Given the description of an element on the screen output the (x, y) to click on. 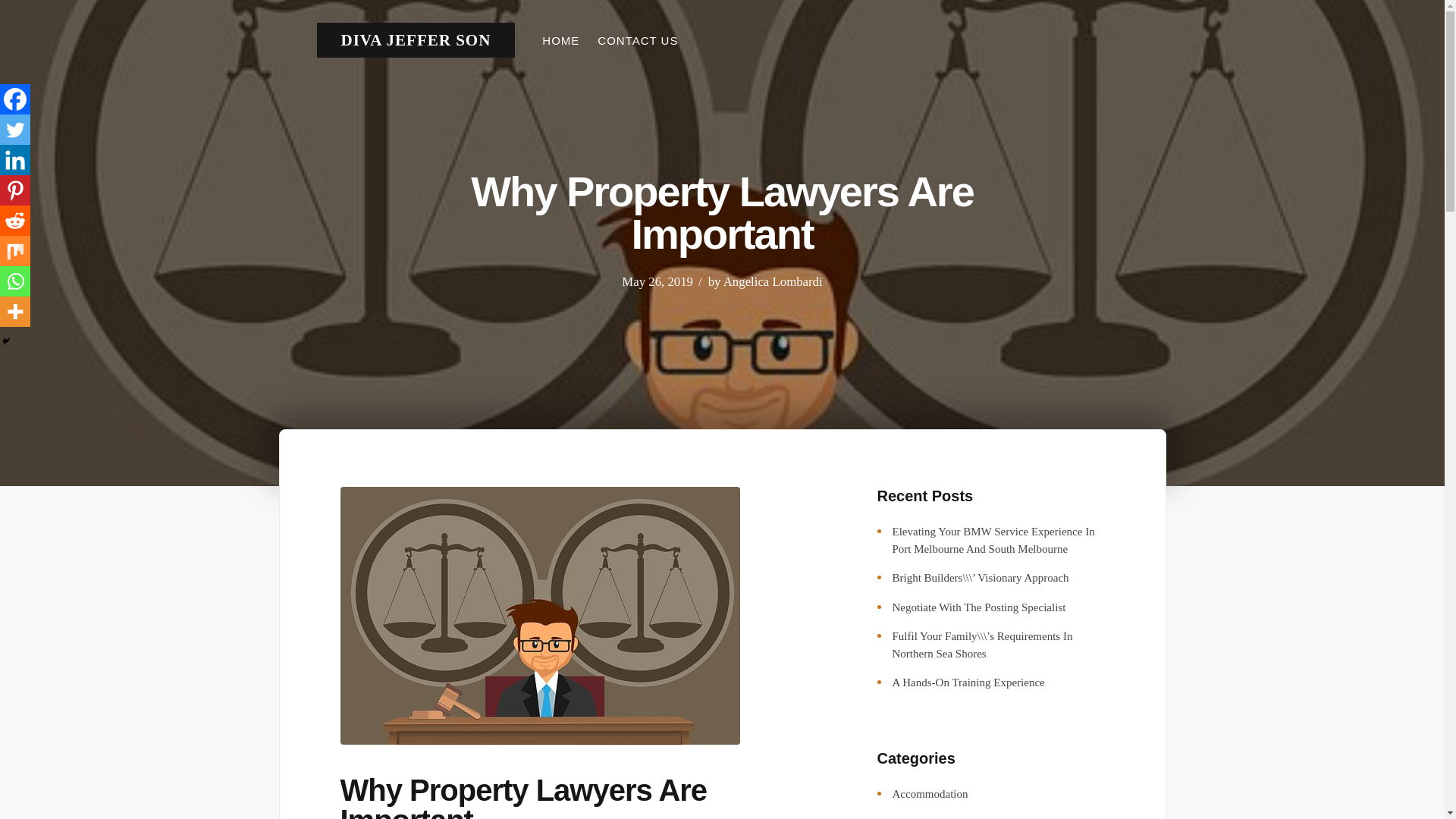
Auto Services (923, 817)
CONTACT US (637, 40)
A Hands-On Training Experience (967, 682)
DIVA JEFFER SON (415, 39)
More (15, 311)
HOME (561, 40)
Linkedin (15, 159)
Whatsapp (15, 281)
Negotiate With The Posting Specialist (978, 607)
Facebook (15, 99)
Accommodation (929, 793)
Twitter (15, 129)
Mix (15, 250)
Angelica Lombardi (772, 281)
